Given the description of an element on the screen output the (x, y) to click on. 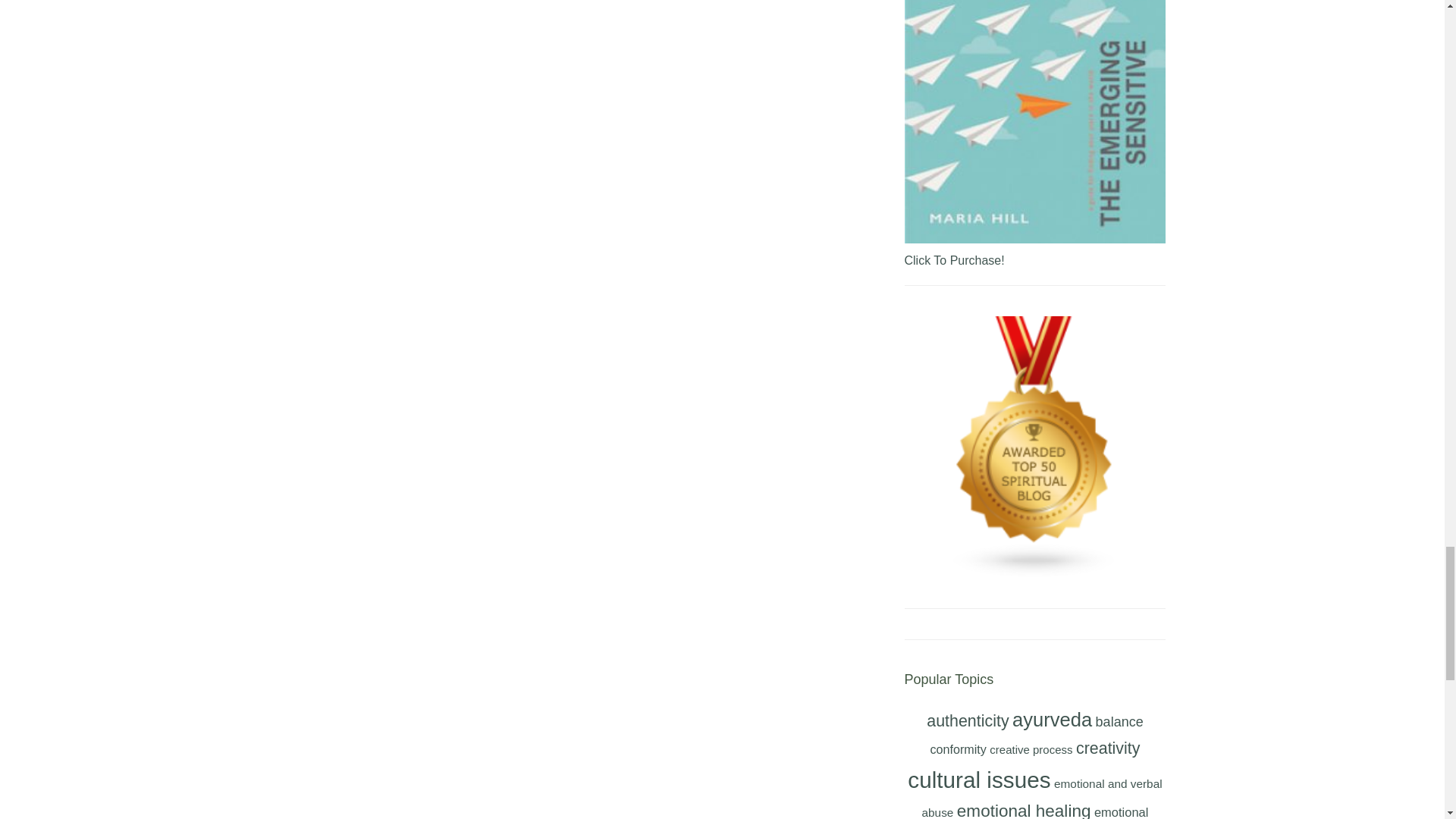
Spiritual blogs (1035, 445)
sensitive app (1035, 121)
